Given the description of an element on the screen output the (x, y) to click on. 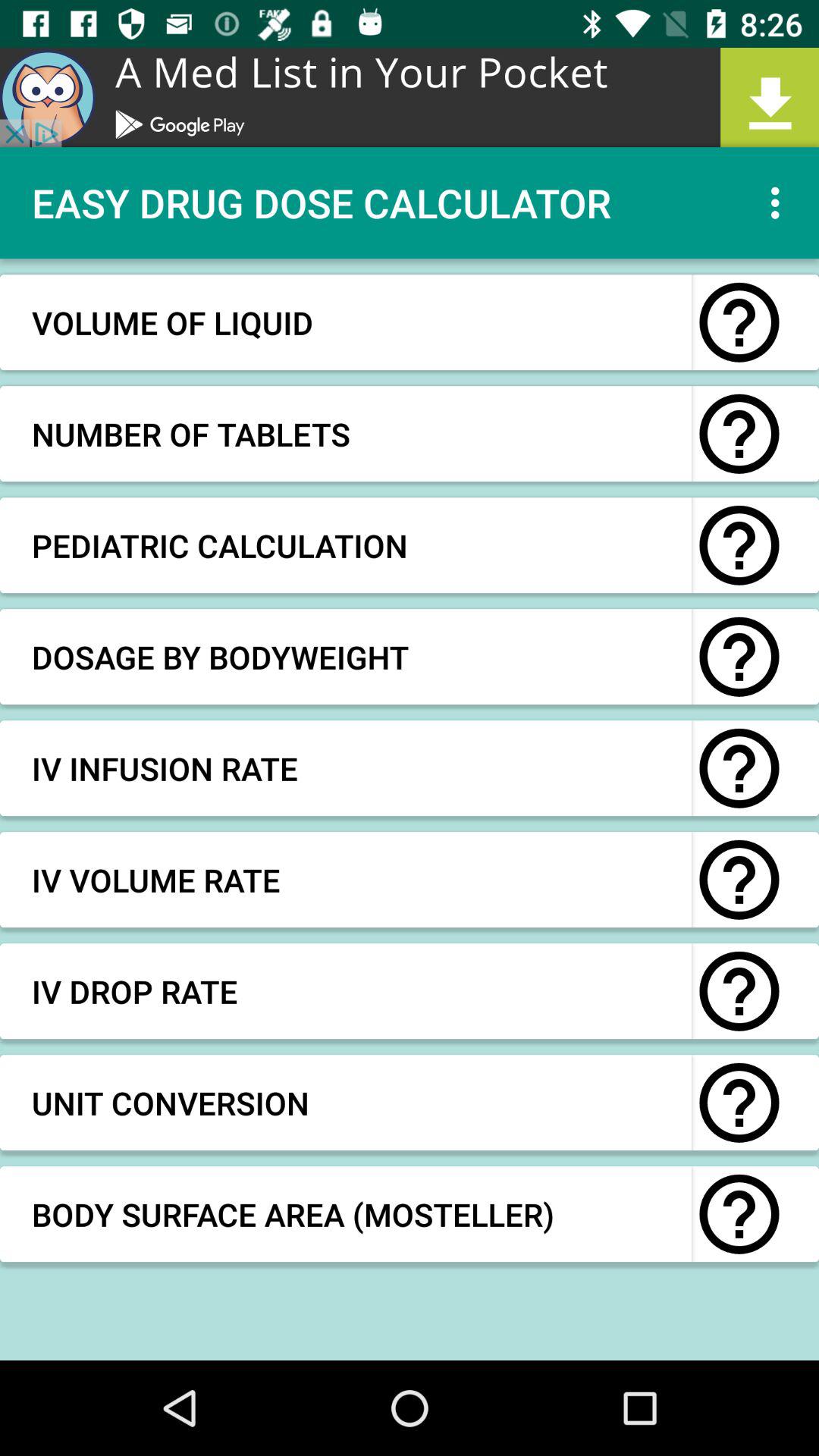
show help on iv infusion rate (739, 768)
